Given the description of an element on the screen output the (x, y) to click on. 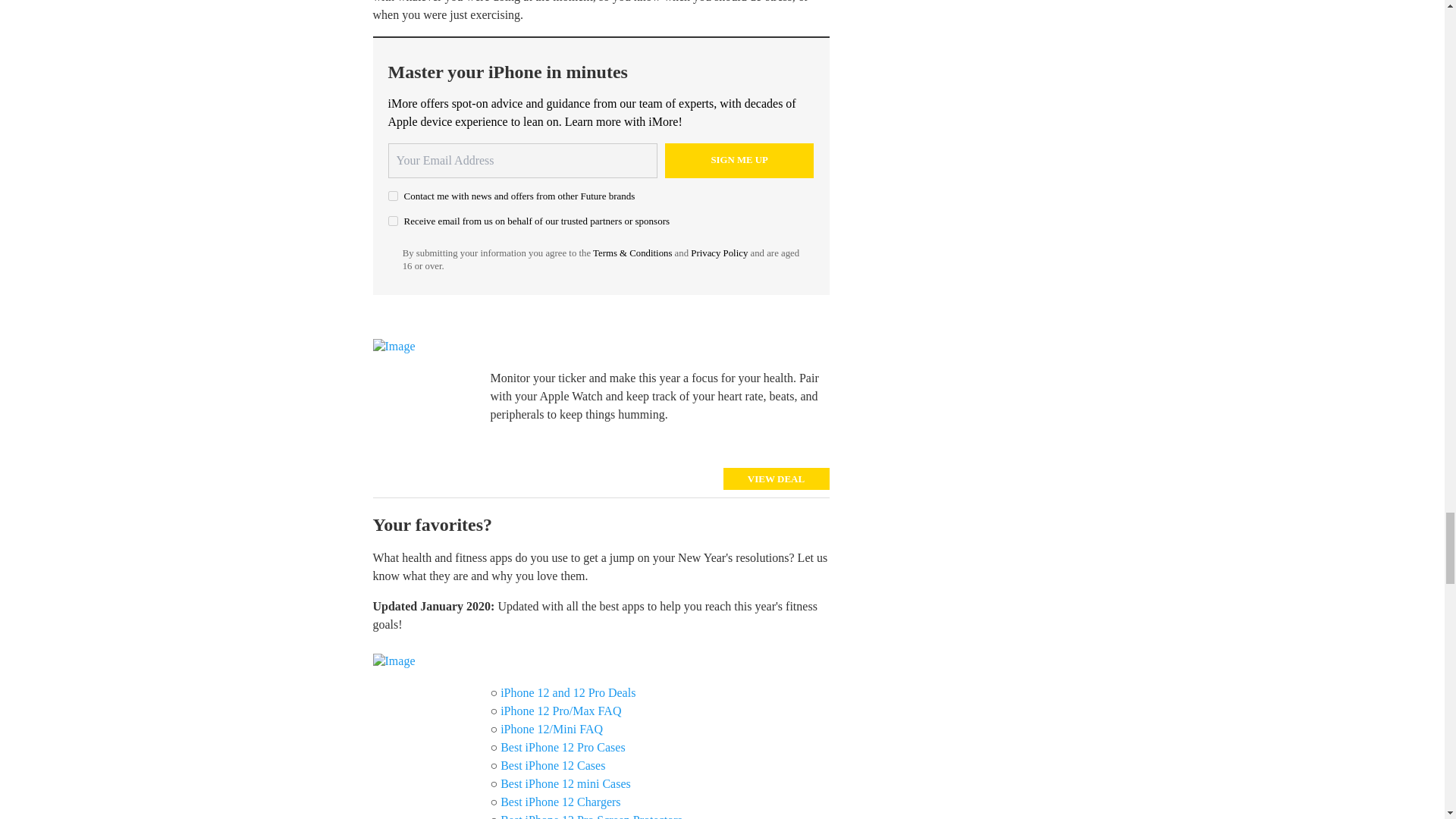
on (392, 195)
Image (425, 710)
on (392, 221)
Sign me up (739, 160)
Image (425, 395)
